Given the description of an element on the screen output the (x, y) to click on. 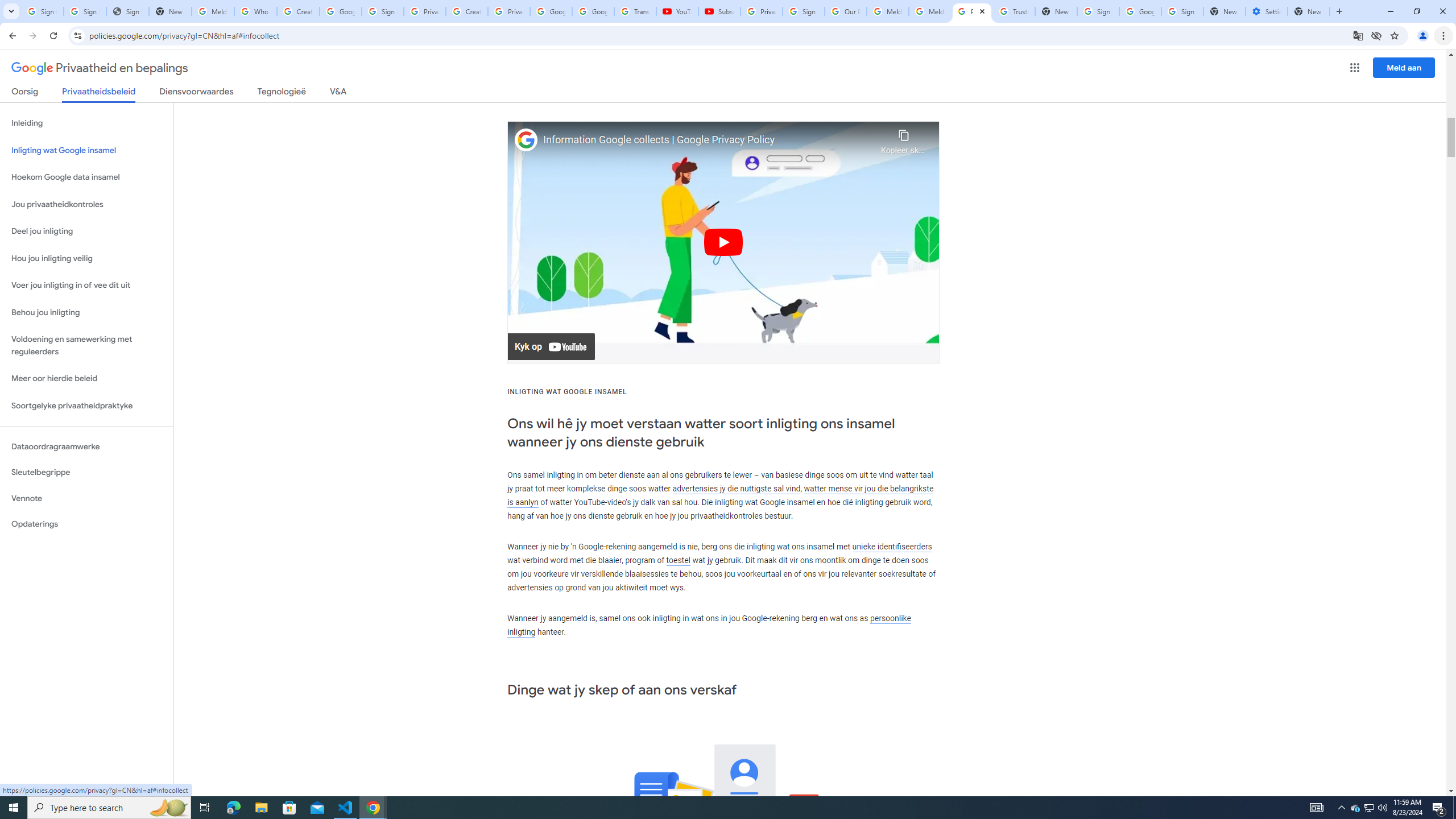
advertensies jy die nuttigste sal vind (736, 488)
Information Google collects | Google Privacy Policy (709, 140)
Soortgelyke privaatheidpraktyke (86, 405)
Voer jou inligting in of vee dit uit (86, 284)
toestel (678, 560)
Vennote (86, 497)
